Given the description of an element on the screen output the (x, y) to click on. 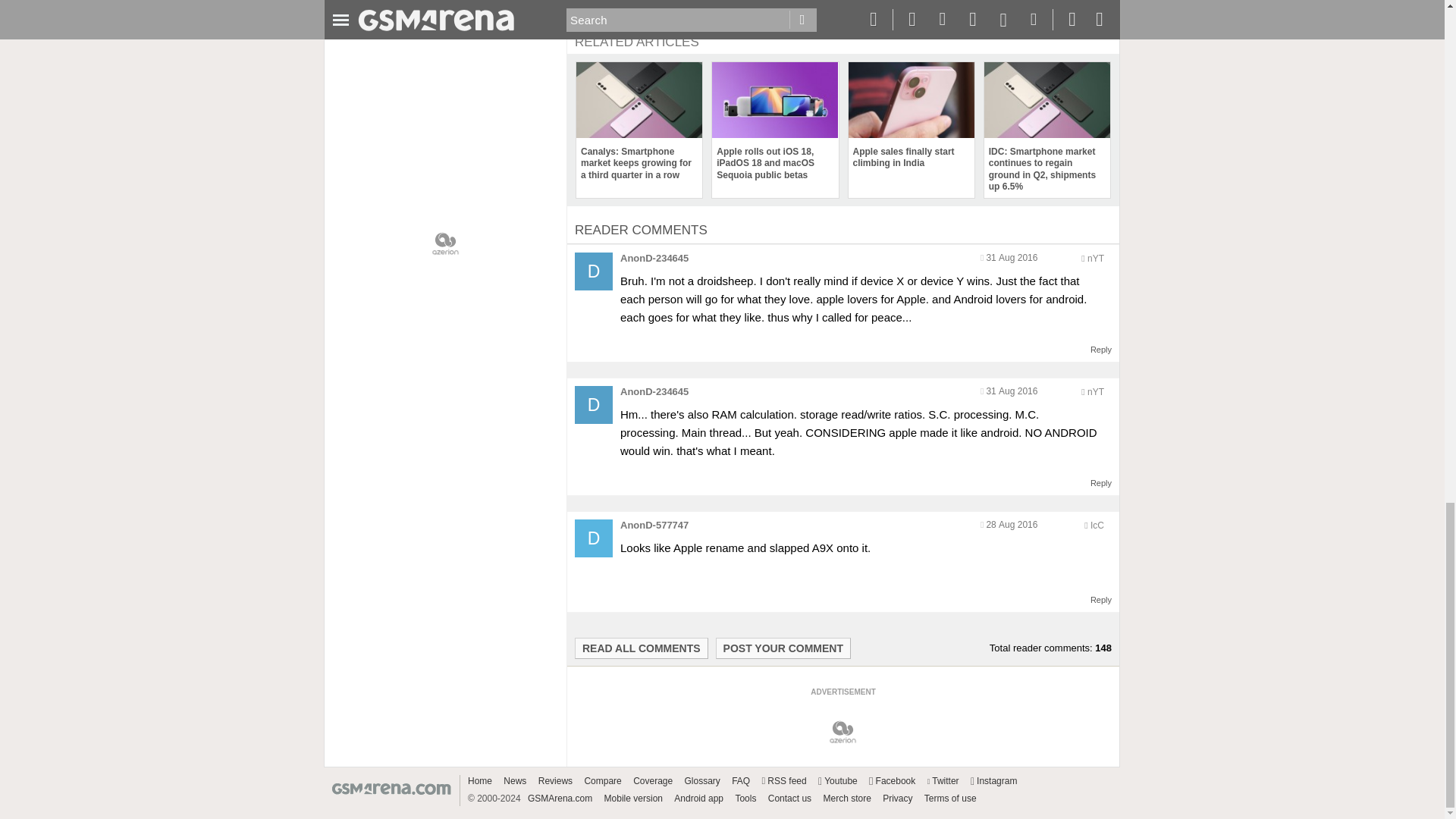
Encoded anonymized location (1095, 258)
Encoded anonymized location (1095, 391)
Reply to this post (1101, 599)
Reply to this post (1101, 348)
Reply to this post (1101, 482)
Encoded anonymized location (1096, 525)
